Given the description of an element on the screen output the (x, y) to click on. 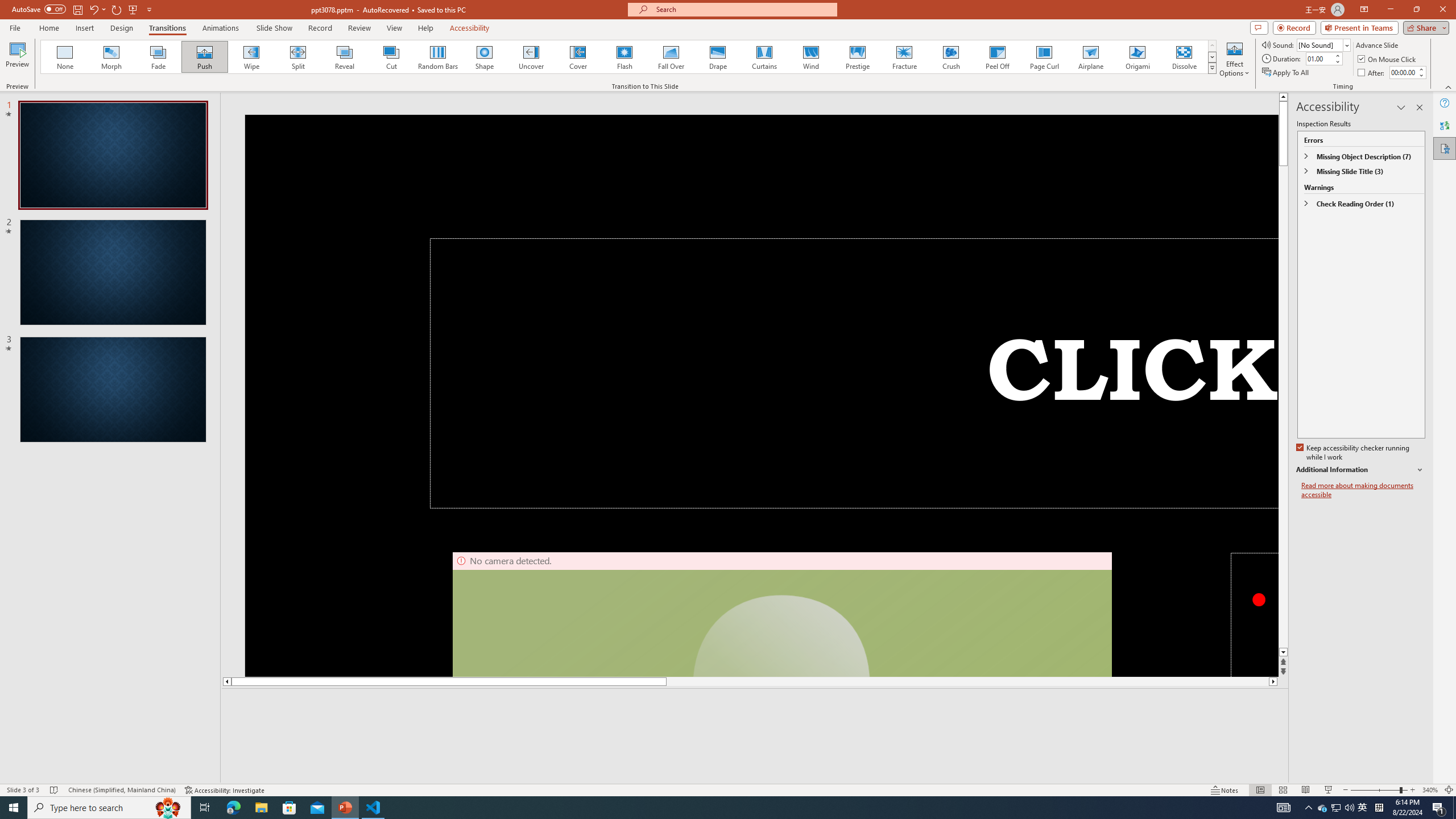
Notes  (1225, 790)
More (1420, 69)
Wind (810, 56)
Duration (1319, 58)
Apply To All (1286, 72)
Row Down (1212, 56)
